Given the description of an element on the screen output the (x, y) to click on. 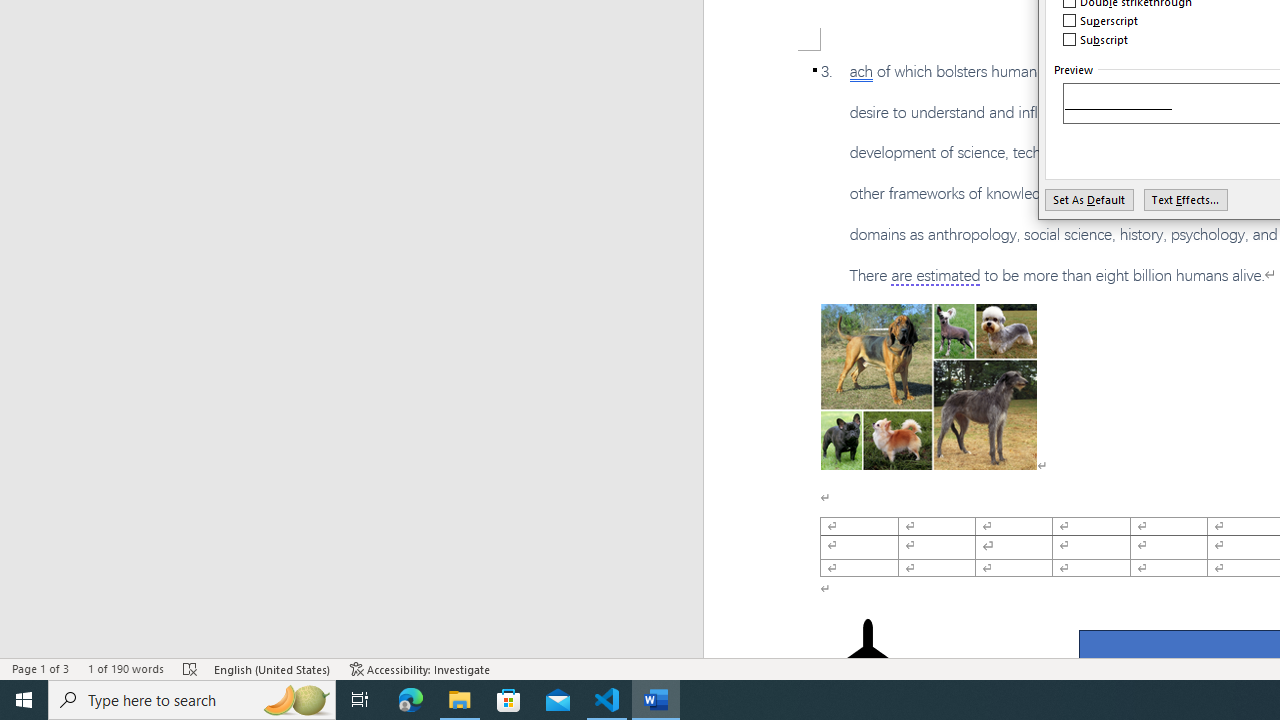
Start (24, 699)
Spelling and Grammar Check Errors (191, 668)
Word - 1 running window (656, 699)
Airplane with solid fill (867, 657)
Morphological variation in six dogs (928, 386)
Microsoft Store (509, 699)
